Given the description of an element on the screen output the (x, y) to click on. 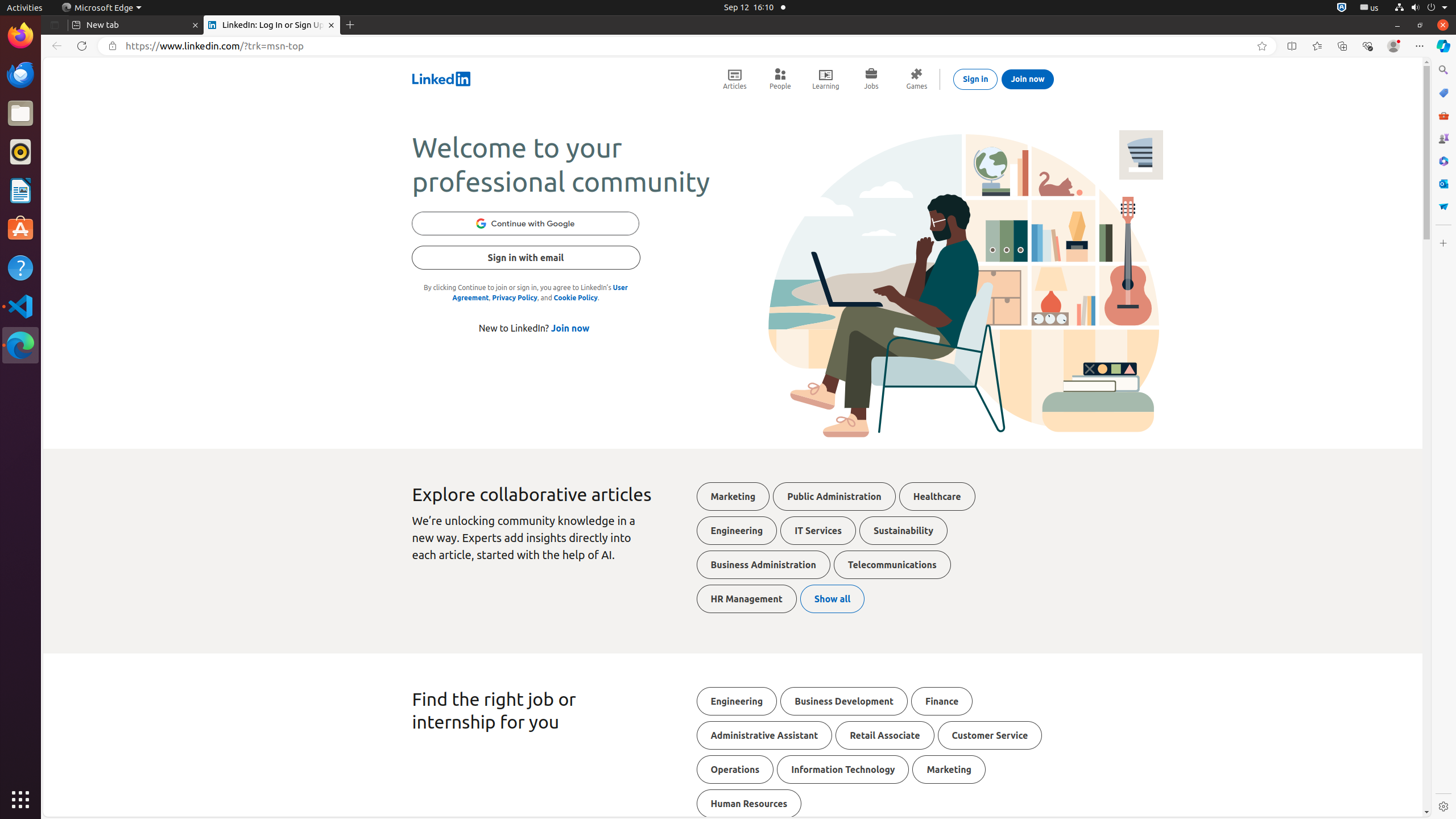
System Element type: menu (1420, 7)
Retail Associate Element type: link (884, 735)
Rhythmbox Element type: push-button (20, 151)
